Given the description of an element on the screen output the (x, y) to click on. 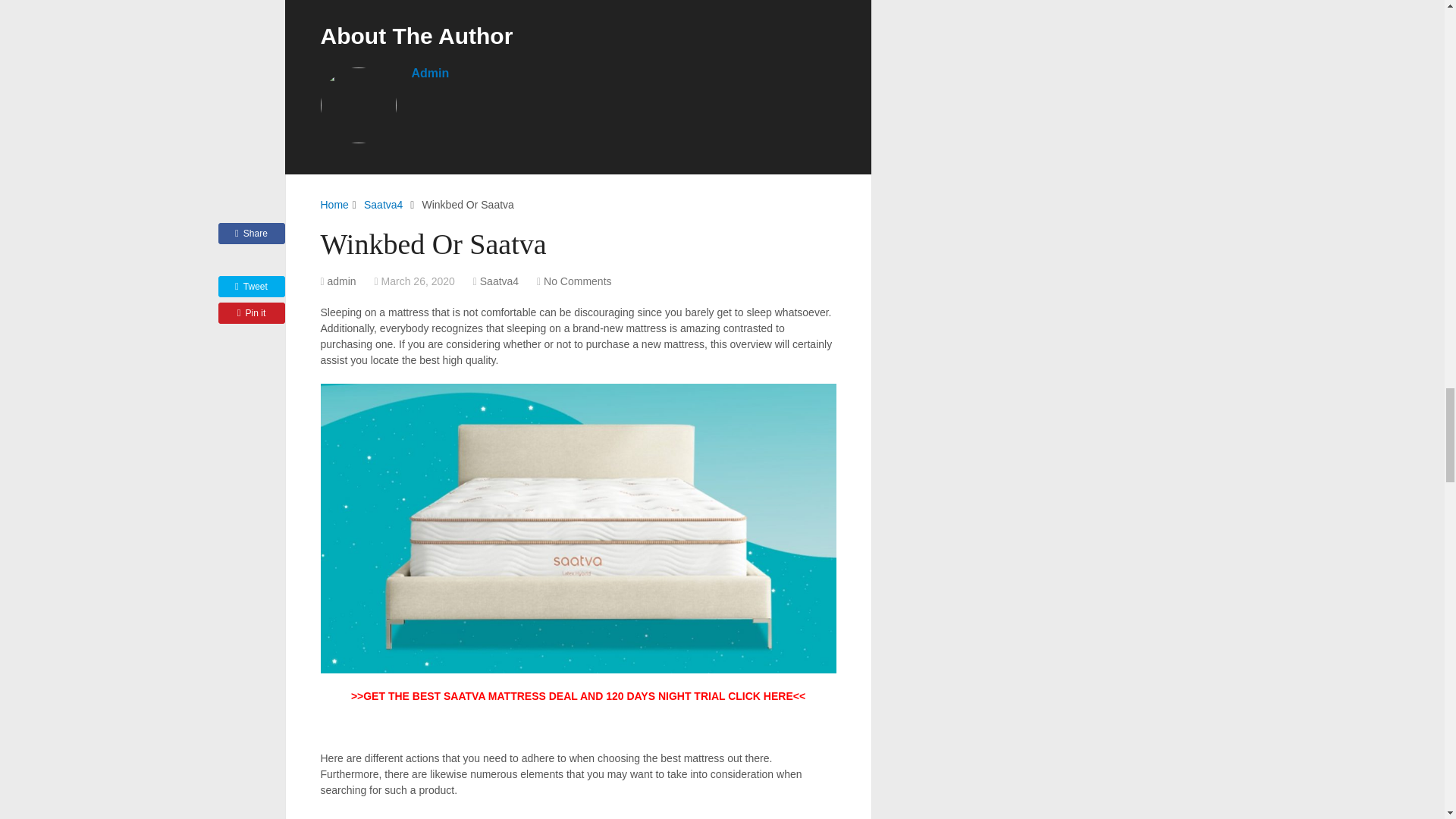
Home (333, 204)
Admin (429, 72)
Saatva4 (383, 204)
Posts by admin (341, 281)
No Comments (577, 281)
admin (341, 281)
View all posts in Saatva4 (499, 281)
Saatva4 (499, 281)
